Given the description of an element on the screen output the (x, y) to click on. 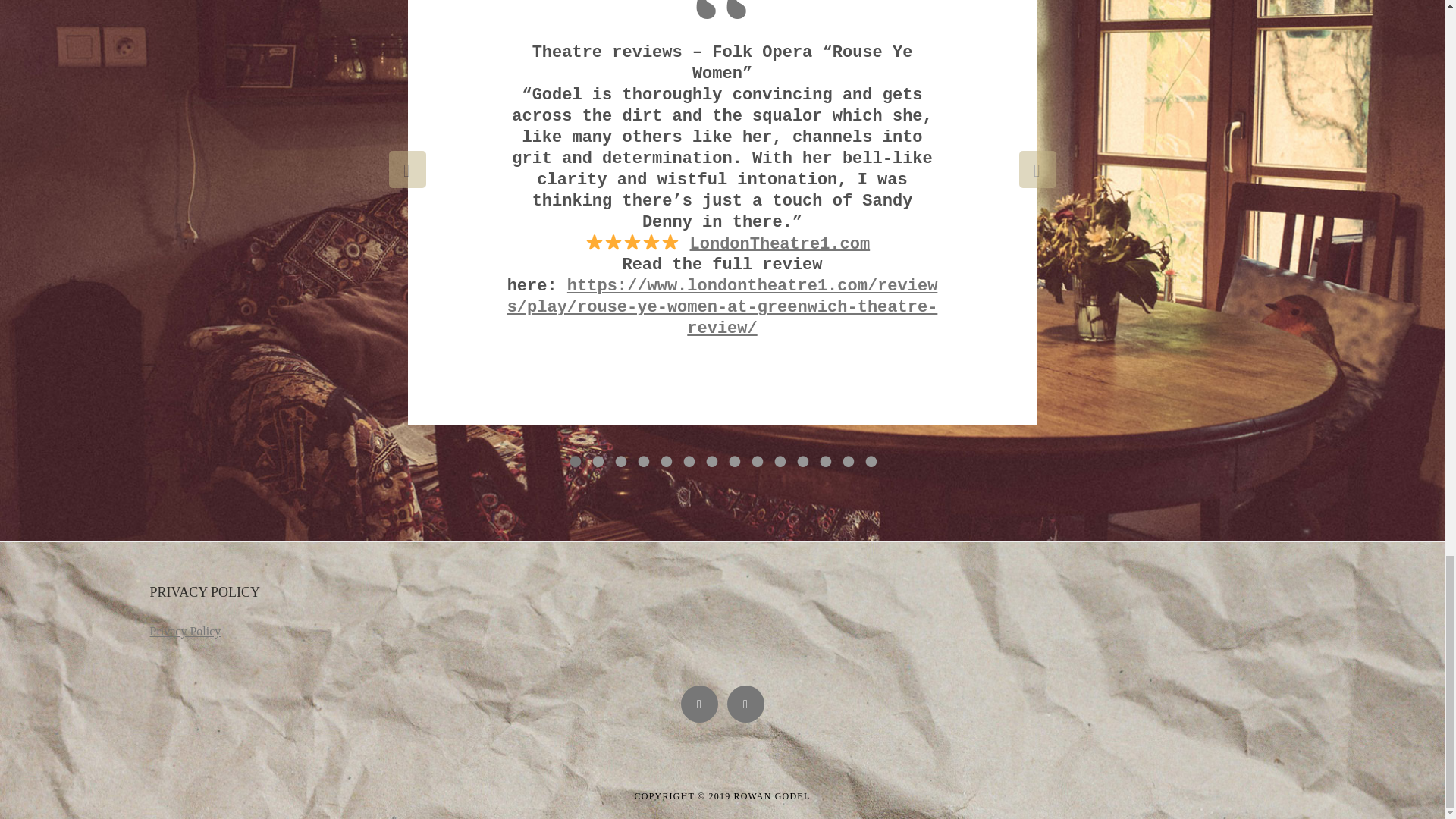
NEXT SLIDE (1038, 169)
LondonTheatre1.com (780, 243)
PREVIOUS SLIDE (406, 169)
